Given the description of an element on the screen output the (x, y) to click on. 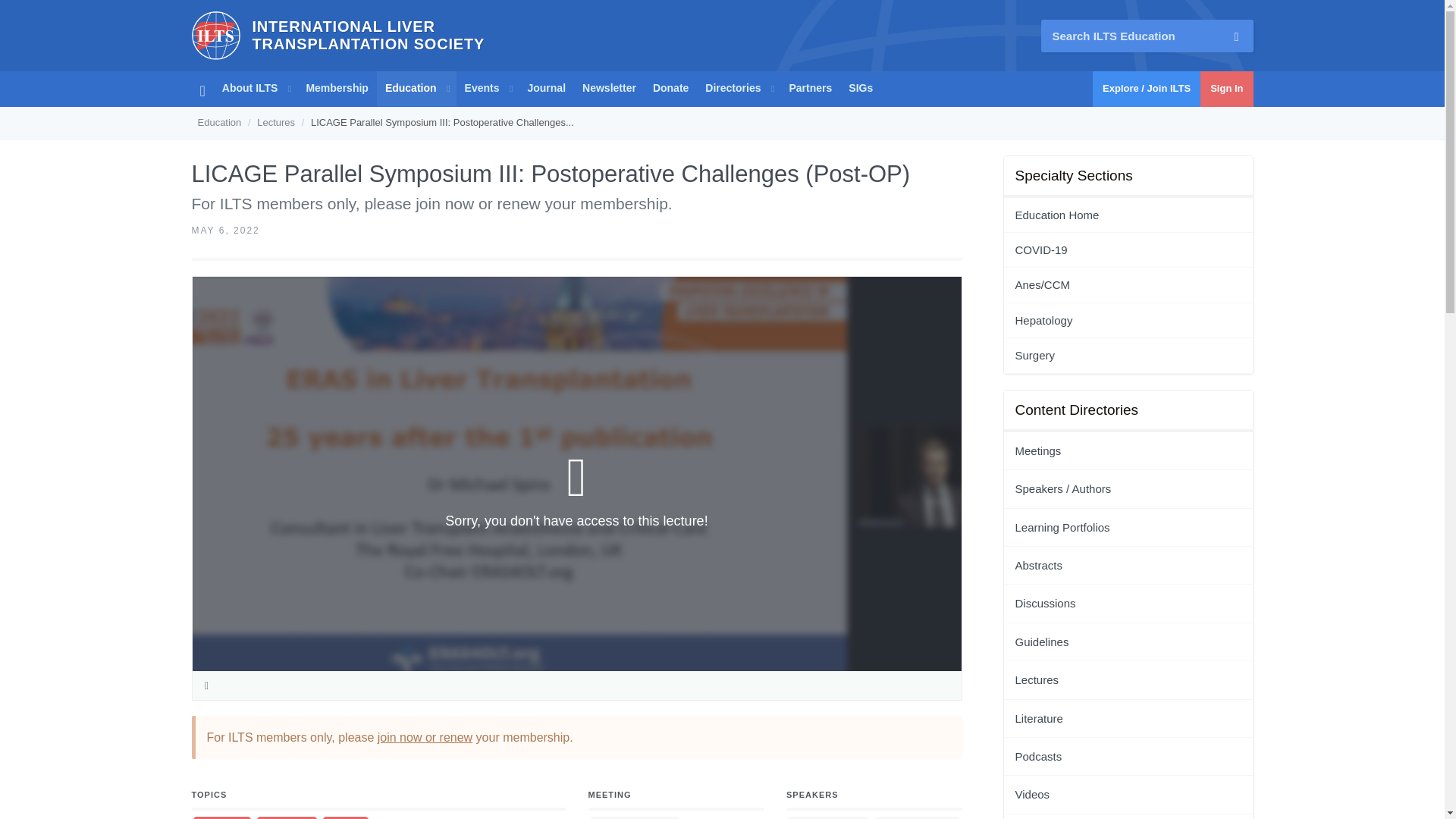
Education (417, 88)
SIGs (860, 88)
INTERNATIONAL LIVER TRANSPLANTATION SOCIETY (387, 35)
Membership (336, 88)
About ILTS (256, 88)
Newsletter (609, 88)
Donate (671, 88)
Journal (545, 88)
Sign In (1225, 89)
Directories (738, 88)
